Given the description of an element on the screen output the (x, y) to click on. 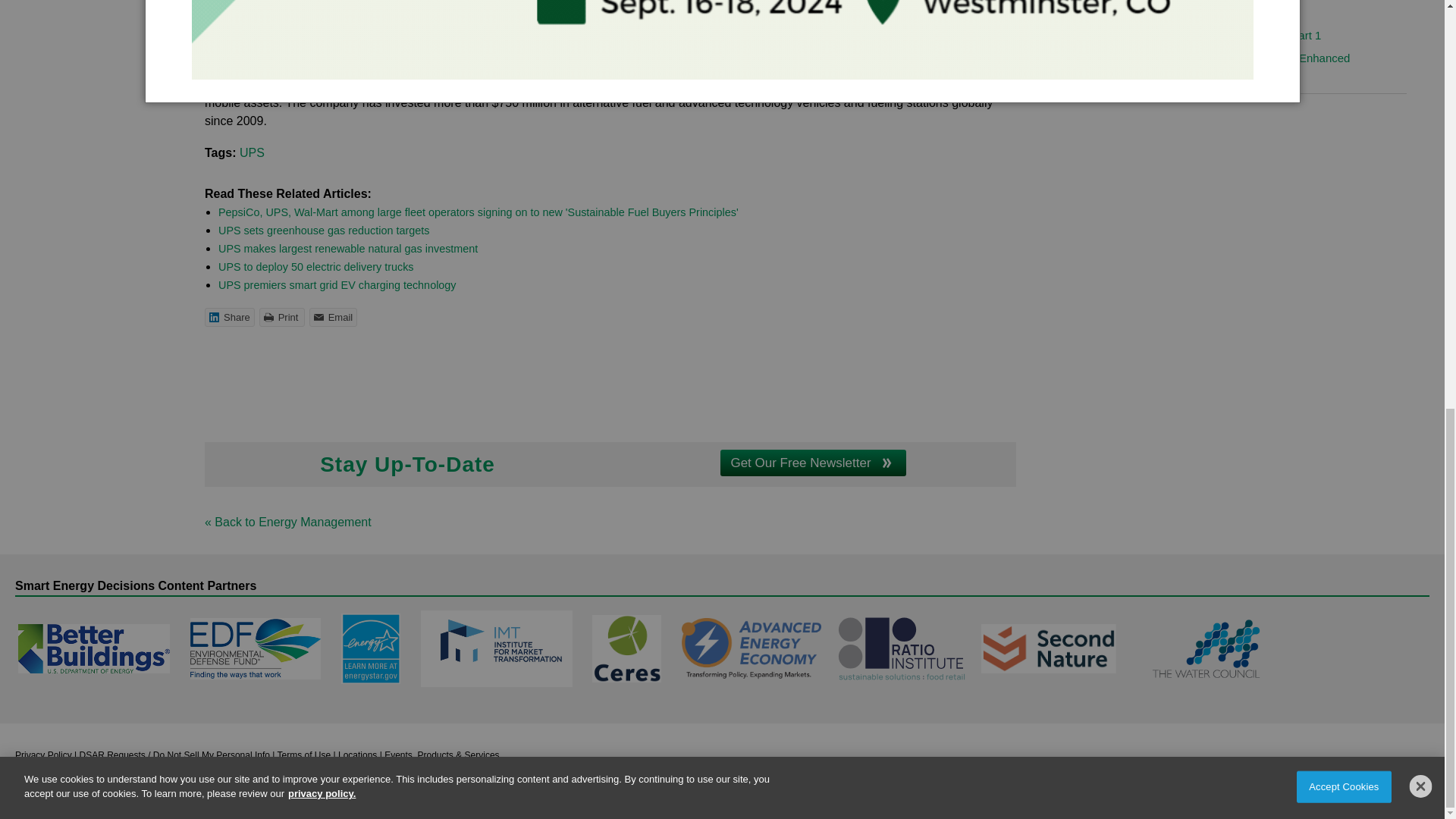
3rd party ad content (610, 374)
